Given the description of an element on the screen output the (x, y) to click on. 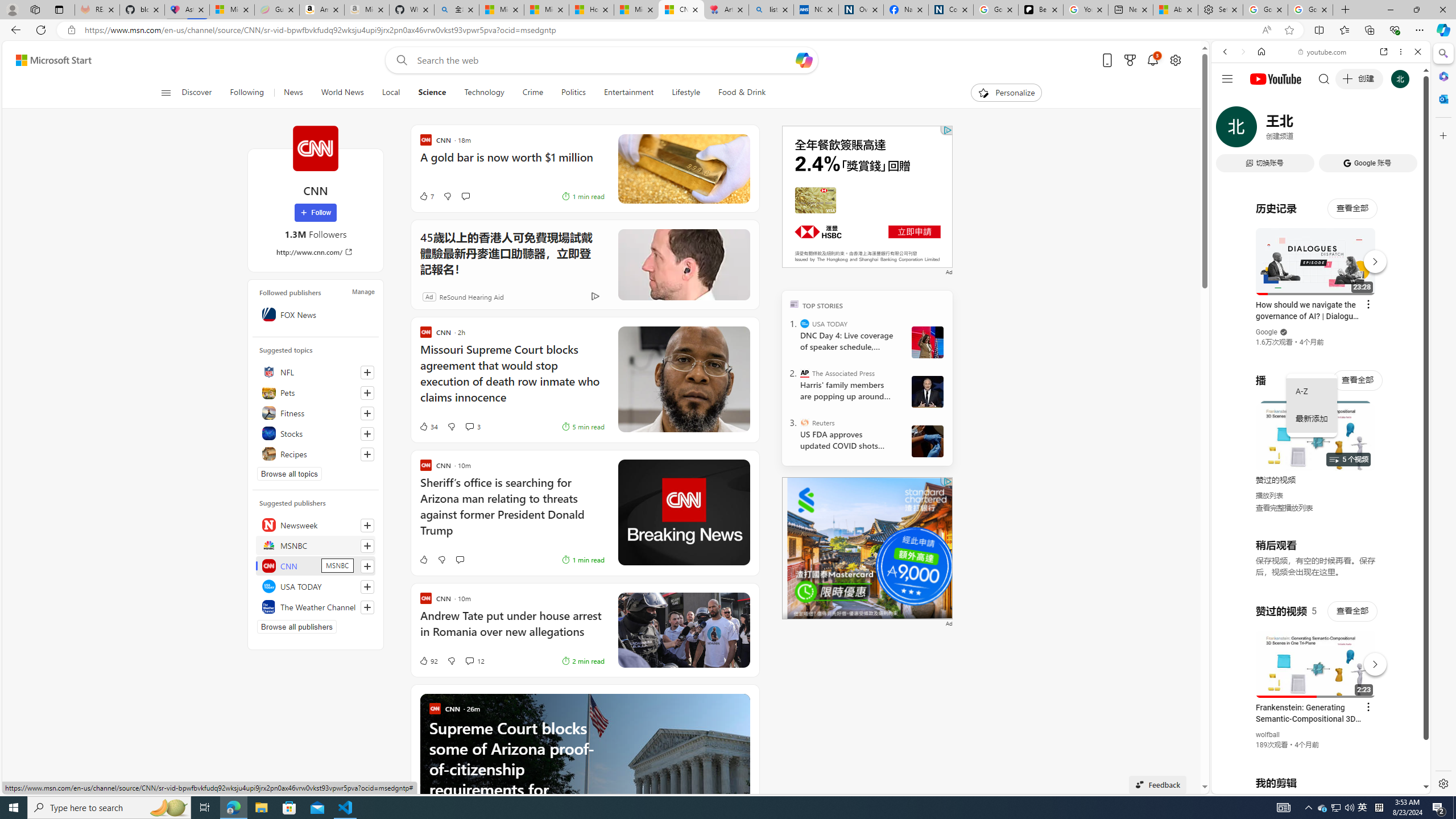
AutomationID: canvas (866, 196)
#you (1320, 253)
Music (1320, 309)
SEARCH TOOLS (1350, 130)
